Given the description of an element on the screen output the (x, y) to click on. 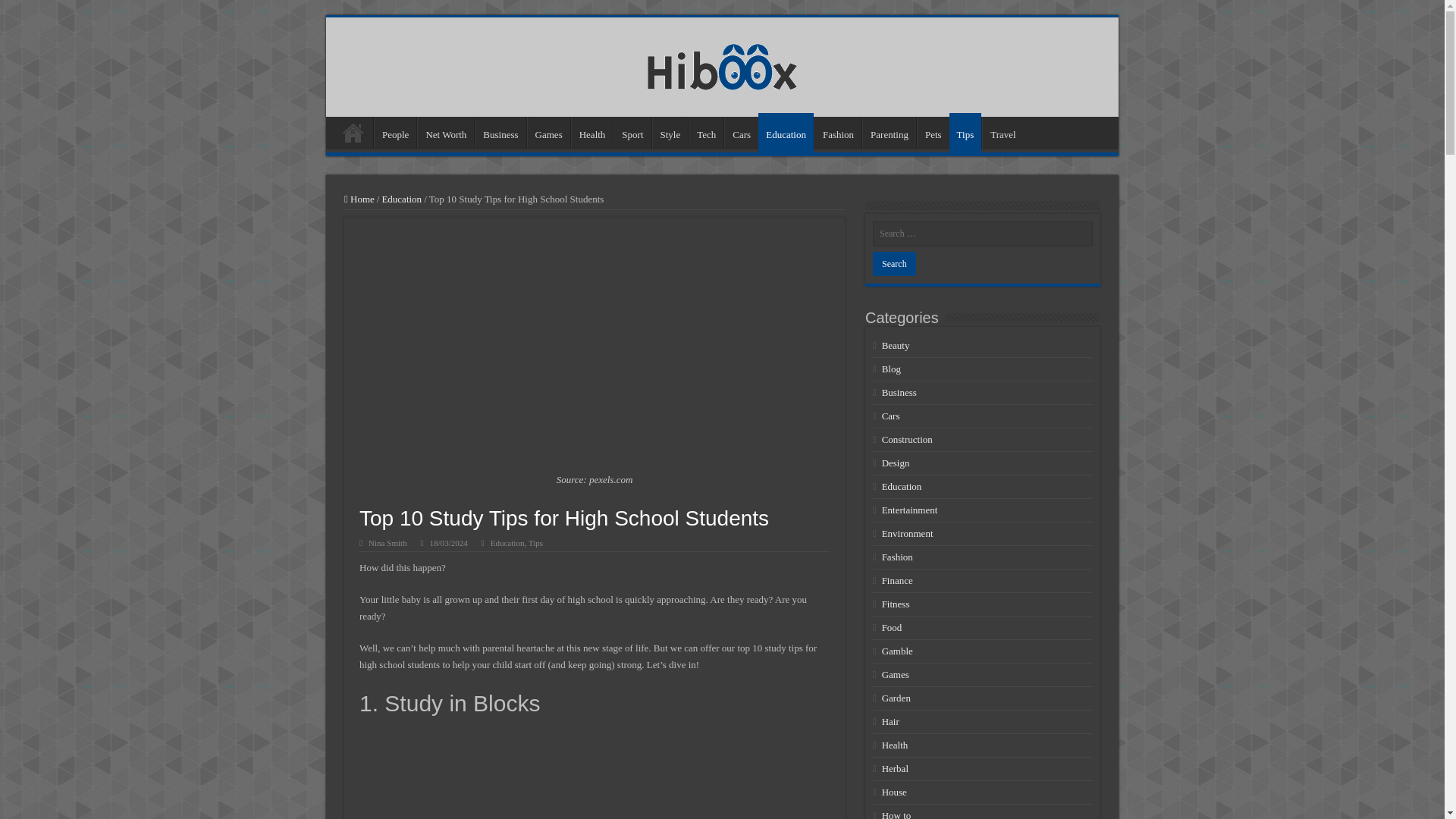
Games (548, 132)
Search (893, 263)
Business (499, 132)
People (395, 132)
Sport (631, 132)
Health (591, 132)
Home (352, 132)
Tech (705, 132)
Travel (1002, 132)
Cars (740, 132)
